Given the description of an element on the screen output the (x, y) to click on. 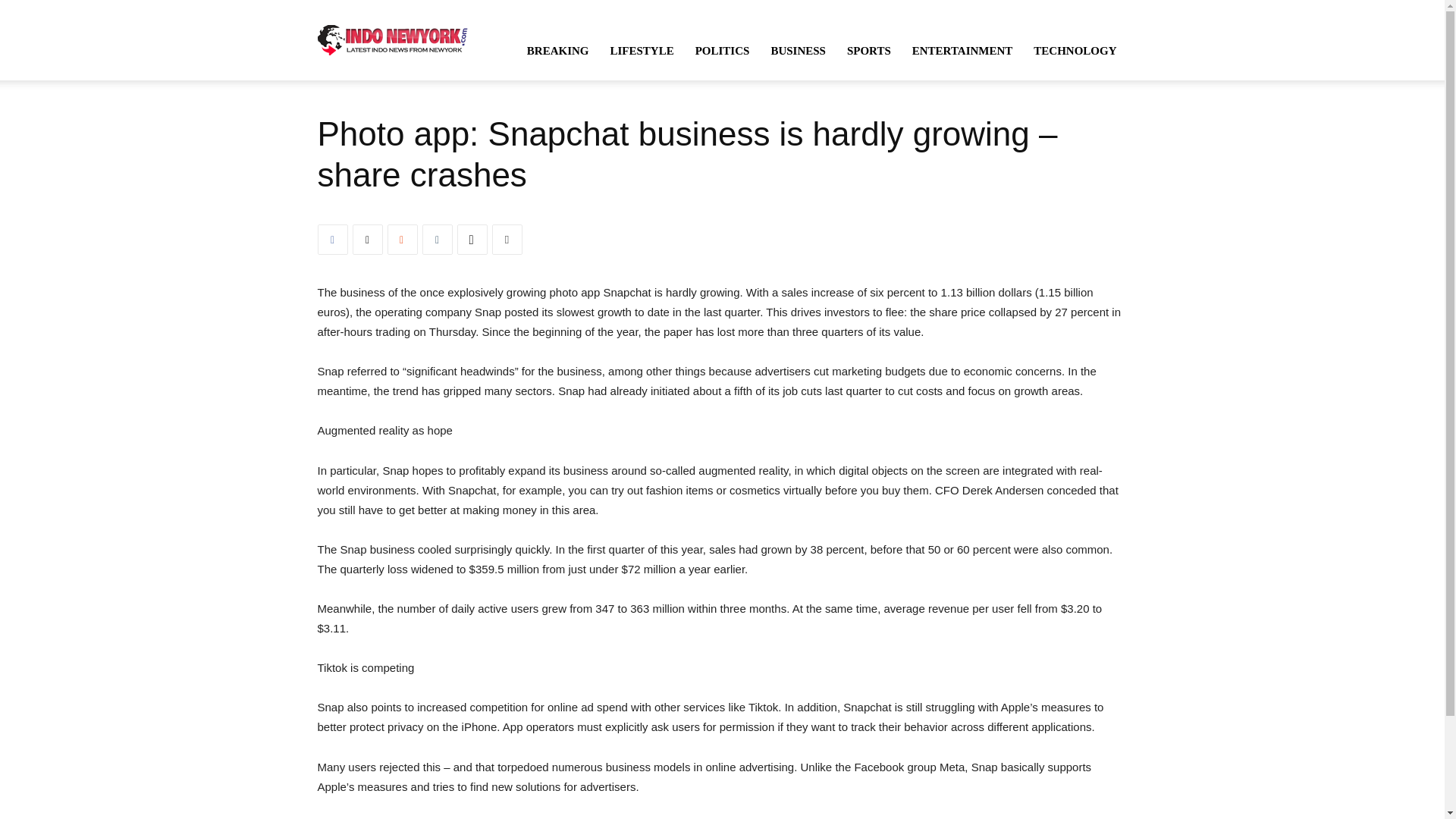
Digg (471, 239)
Indo Newyork (392, 39)
Print (506, 239)
ENTERTAINMENT (962, 50)
TECHNOLOGY (1074, 50)
Tumblr (436, 239)
Mix (401, 239)
POLITICS (722, 50)
SPORTS (868, 50)
BREAKING (557, 50)
Facebook (332, 239)
LIFESTYLE (641, 50)
Twitter (366, 239)
BUSINESS (797, 50)
